Given the description of an element on the screen output the (x, y) to click on. 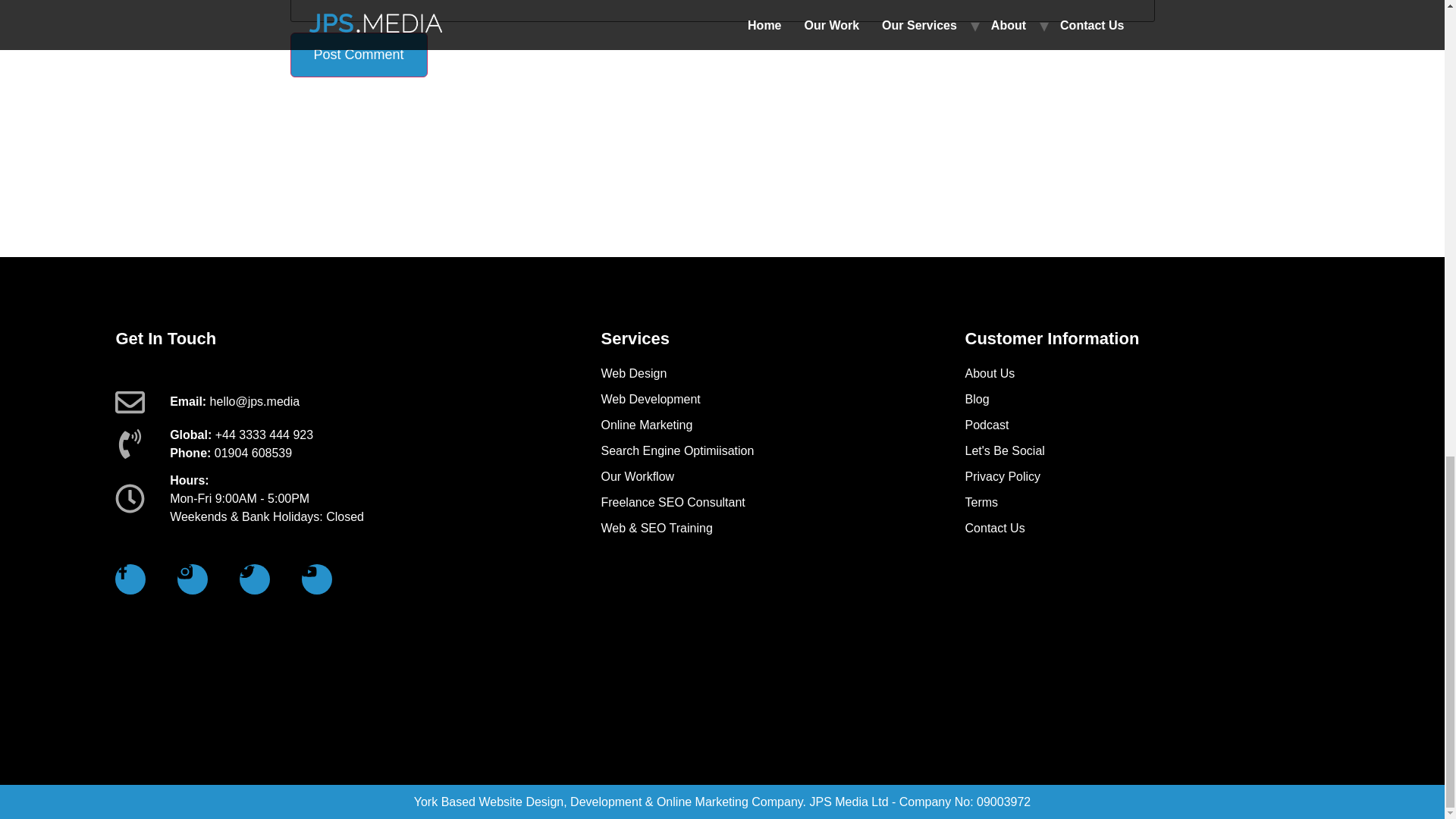
Online Marketing (781, 425)
Our Workflow (781, 476)
Freelance SEO Consultant (781, 502)
Post Comment (357, 54)
Web Development (781, 399)
Terms (1147, 502)
Search Engine Optimiisation (781, 451)
Post Comment (357, 54)
Web Design (781, 373)
About Us (1147, 373)
Podcast (1147, 425)
Blog (1147, 399)
Privacy Policy (1147, 476)
DMCA.com Protection Status (1215, 692)
JPS Media Ltd (848, 801)
